Given the description of an element on the screen output the (x, y) to click on. 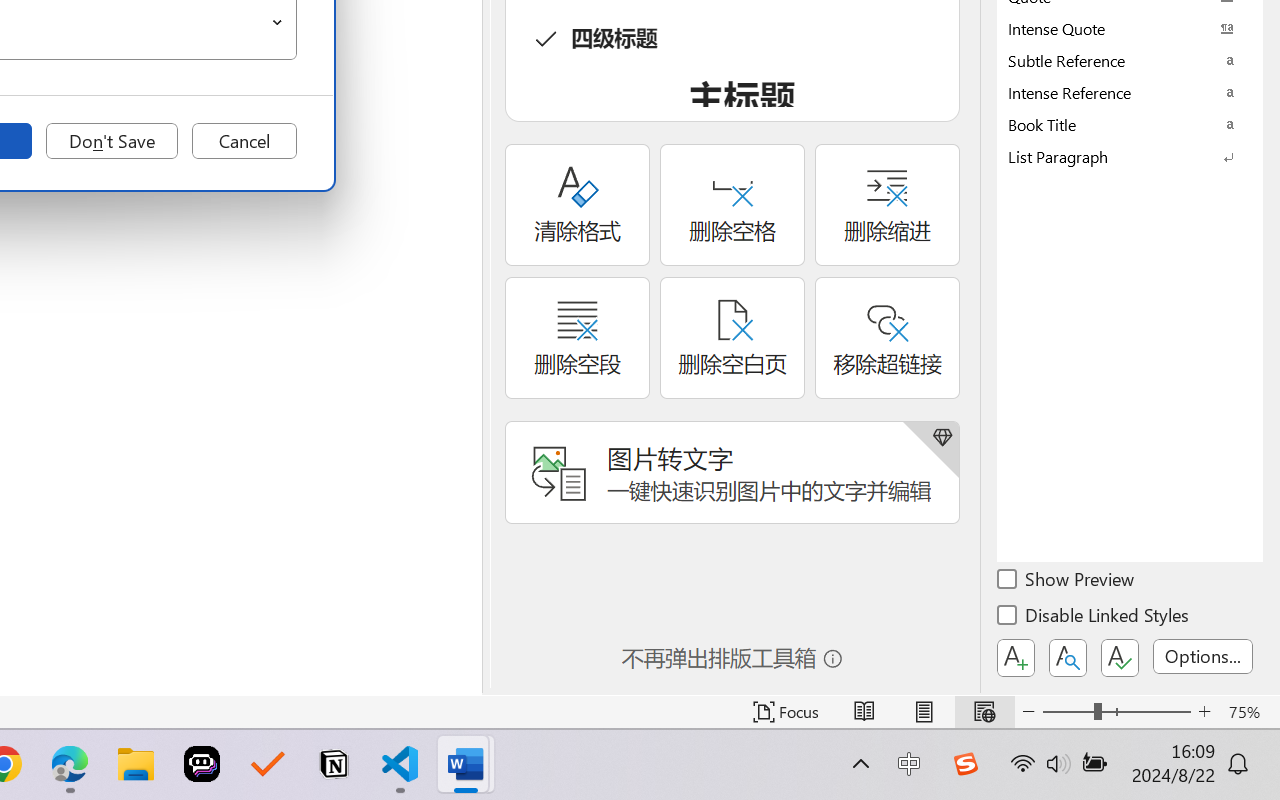
Zoom Out (1067, 712)
List Paragraph (1130, 156)
Web Layout (984, 712)
Subtle Reference (1130, 60)
Class: NetUIImage (1116, 156)
Poe (201, 764)
